Given the description of an element on the screen output the (x, y) to click on. 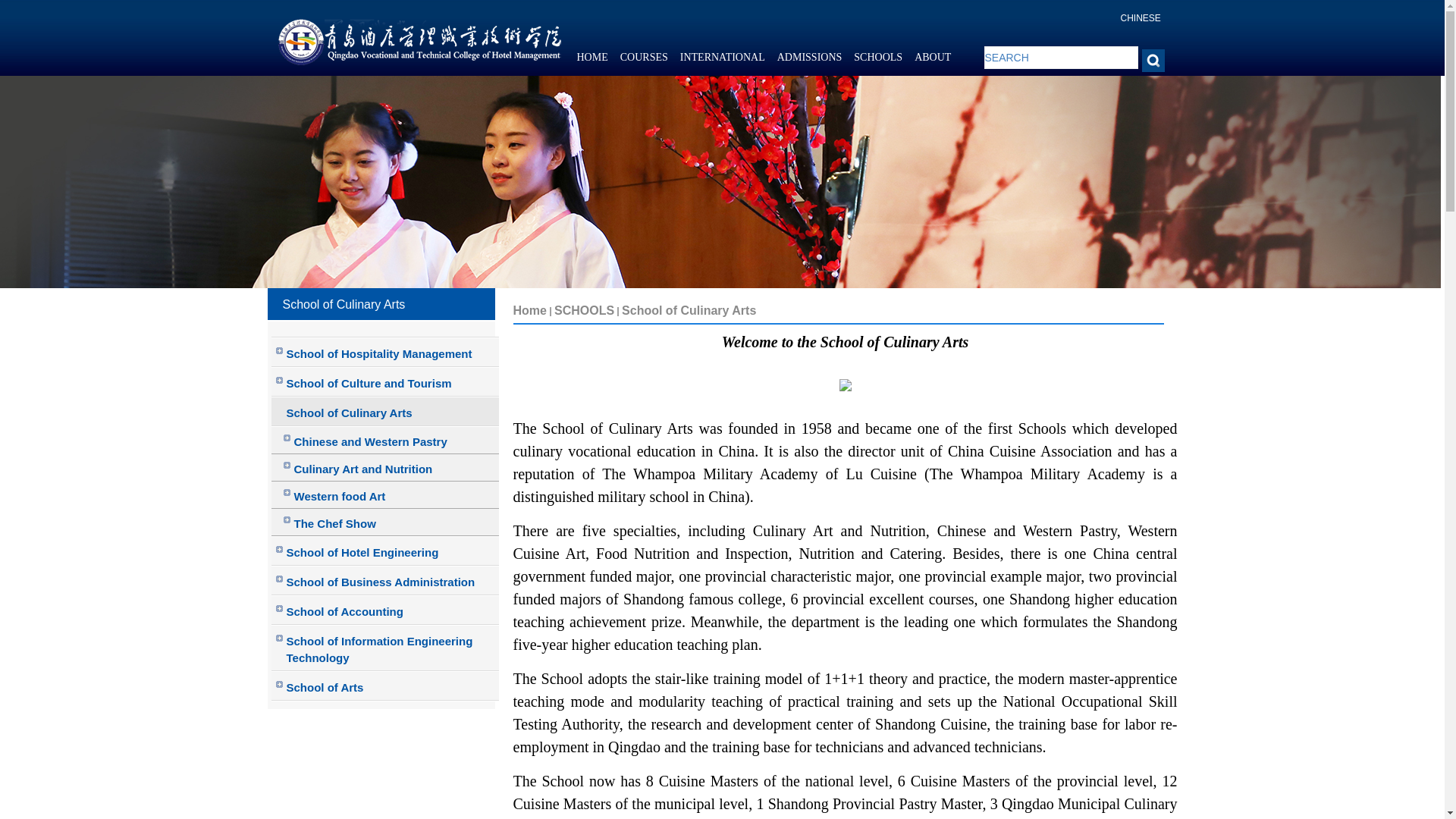
School of Culinary Arts (384, 410)
School of Business Administration (384, 580)
HOME (591, 57)
School of Information Engineering Technology (384, 647)
ADMISSIONS (809, 57)
SCHOOLS (877, 57)
COURSES (644, 57)
Culinary Art and Nutrition (384, 467)
School of Culture and Tourism (384, 381)
Chinese and Western Pastry (384, 440)
SEARCH (1061, 56)
Western food Art (384, 494)
INTERNATIONAL (722, 57)
CHINESE (1140, 18)
School of Accounting (384, 609)
